Given the description of an element on the screen output the (x, y) to click on. 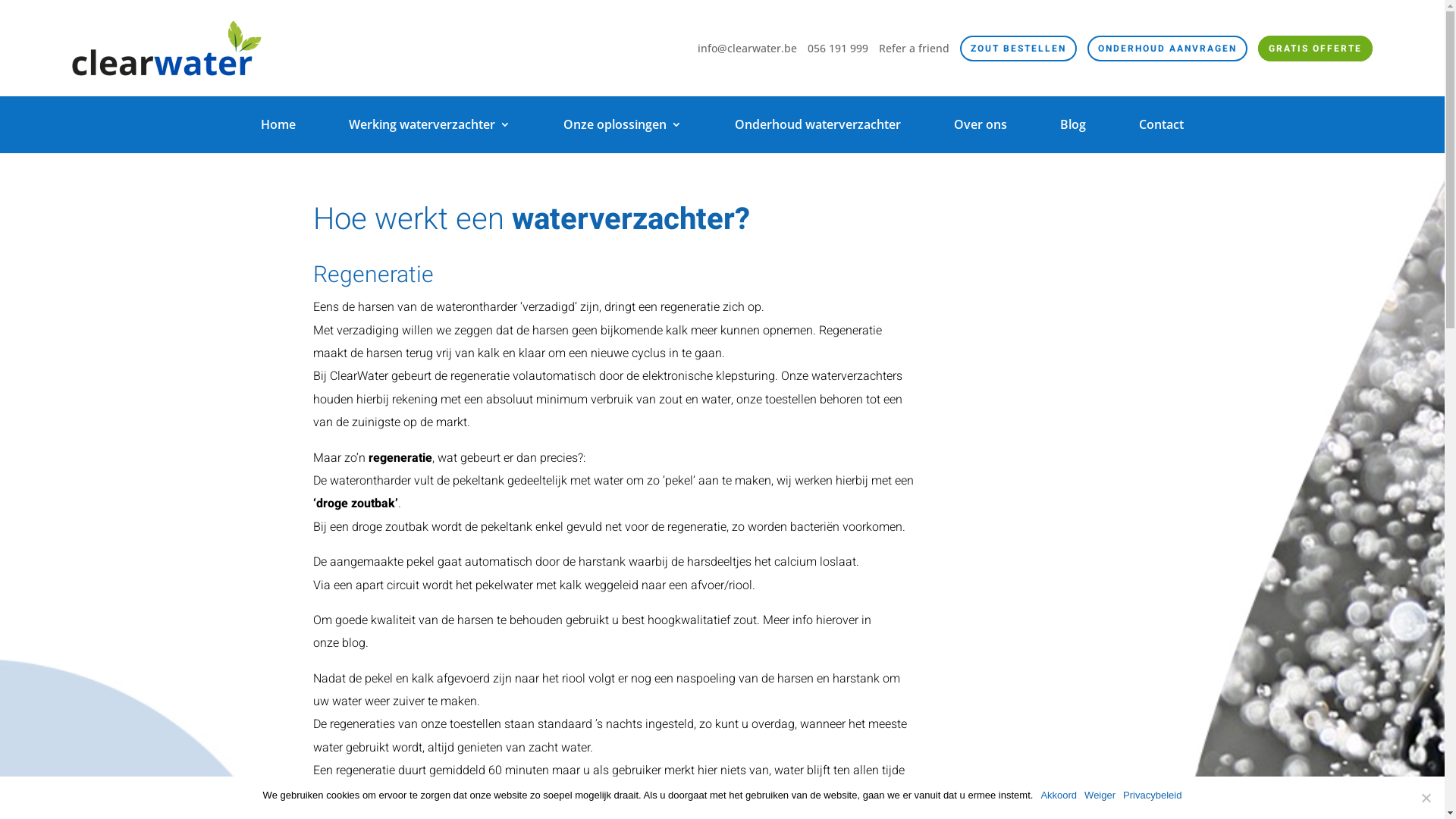
056 191 999 Element type: text (837, 47)
Weiger Element type: hover (1425, 797)
Over ons Element type: text (980, 127)
ZOUT BESTELLEN Element type: text (1018, 48)
Refer a friend Element type: text (913, 47)
Privacybeleid Element type: text (1152, 795)
Weiger Element type: text (1099, 795)
Home Element type: text (277, 127)
Onze oplossingen Element type: text (622, 127)
Onderhoud waterverzachter Element type: text (817, 127)
info@clearwater.be Element type: text (747, 47)
Blog Element type: text (1072, 127)
ONDERHOUD AANVRAGEN Element type: text (1167, 48)
GRATIS OFFERTE Element type: text (1315, 48)
Contact Element type: text (1161, 127)
Akkoord Element type: text (1058, 795)
Werking waterverzachter Element type: text (429, 127)
